Given the description of an element on the screen output the (x, y) to click on. 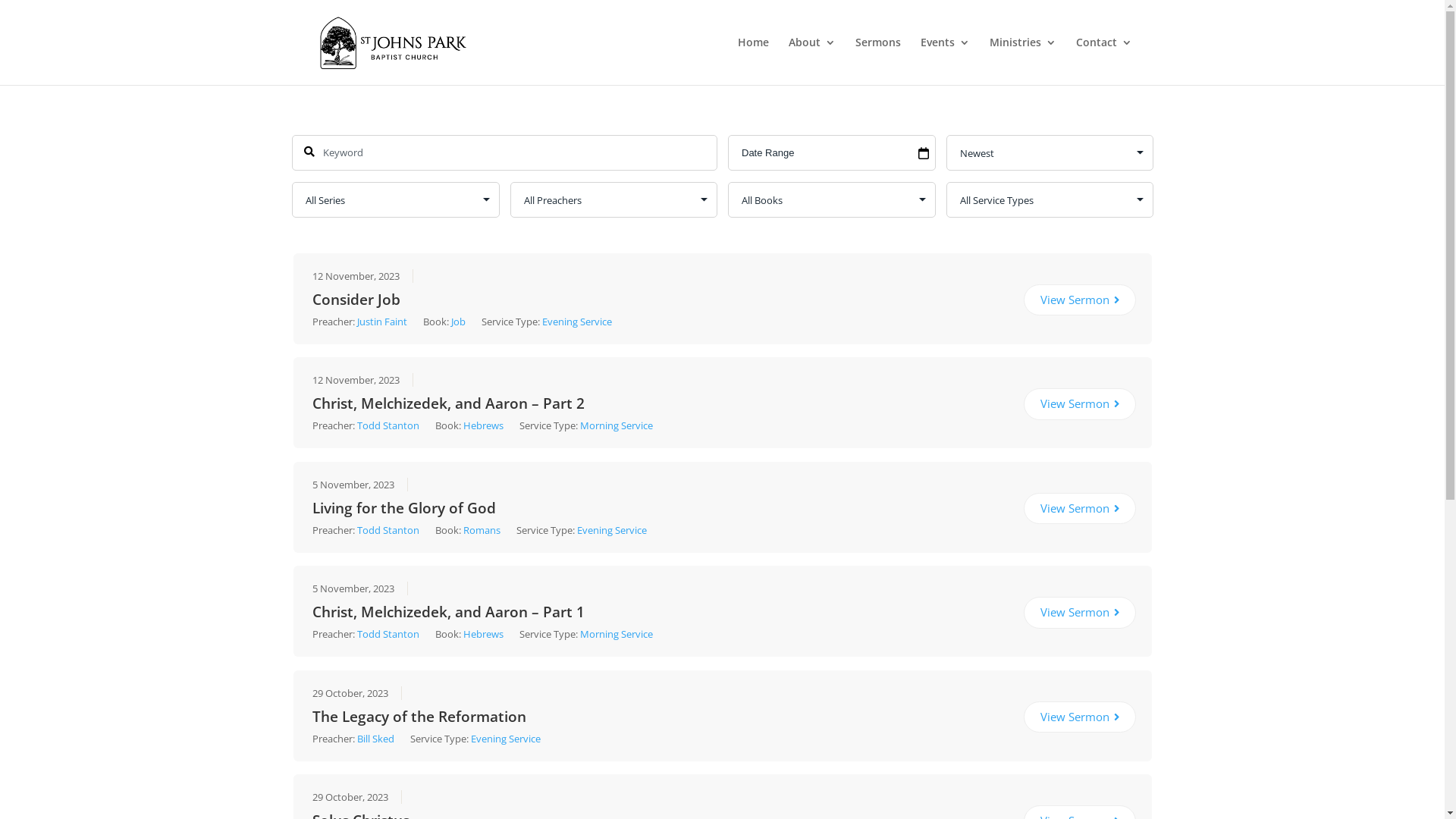
Hebrews Element type: text (482, 425)
View Sermon Element type: text (1079, 300)
Morning Service Element type: text (615, 633)
Bill Sked Element type: text (375, 738)
View Sermon Element type: text (1079, 508)
Consider Job Element type: text (355, 297)
Ministries Element type: text (1021, 60)
View Sermon Element type: text (1079, 404)
Todd Stanton Element type: text (387, 633)
Evening Service Element type: text (576, 321)
Job Element type: text (457, 321)
Hebrews Element type: text (482, 633)
Events Element type: text (944, 60)
The Legacy of the Reformation Element type: text (418, 714)
View Sermon Element type: text (1079, 612)
Todd Stanton Element type: text (387, 425)
About Element type: text (811, 60)
Contact Element type: text (1103, 60)
Justin Faint Element type: text (381, 321)
Home Element type: text (752, 60)
Morning Service Element type: text (615, 425)
Todd Stanton Element type: text (387, 529)
Evening Service Element type: text (611, 529)
Romans Element type: text (481, 529)
Living for the Glory of God Element type: text (403, 505)
Evening Service Element type: text (505, 738)
Sermons Element type: text (877, 60)
View Sermon Element type: text (1079, 717)
